Given the description of an element on the screen output the (x, y) to click on. 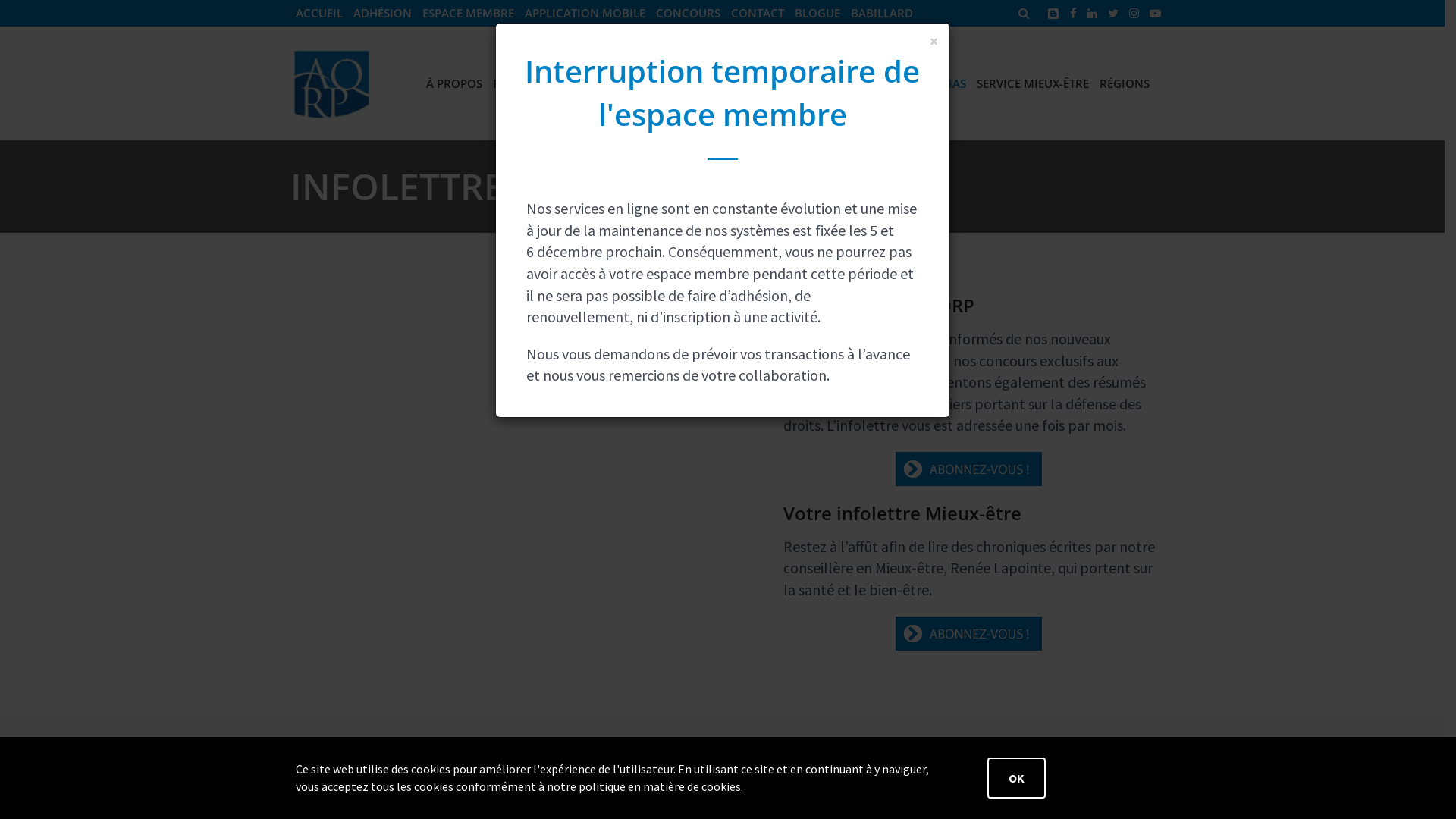
BLOGUE Element type: text (816, 13)
CONCOURS Element type: text (687, 13)
ACCUEIL Element type: text (318, 13)
BABILLARD Element type: text (880, 13)
CONTACT Element type: text (756, 13)
ESPACE MEMBRE Element type: text (468, 13)
APPLICATION MOBILE Element type: text (583, 13)
RABAIS Element type: text (511, 83)
OK Element type: text (1016, 777)
